Given the description of an element on the screen output the (x, y) to click on. 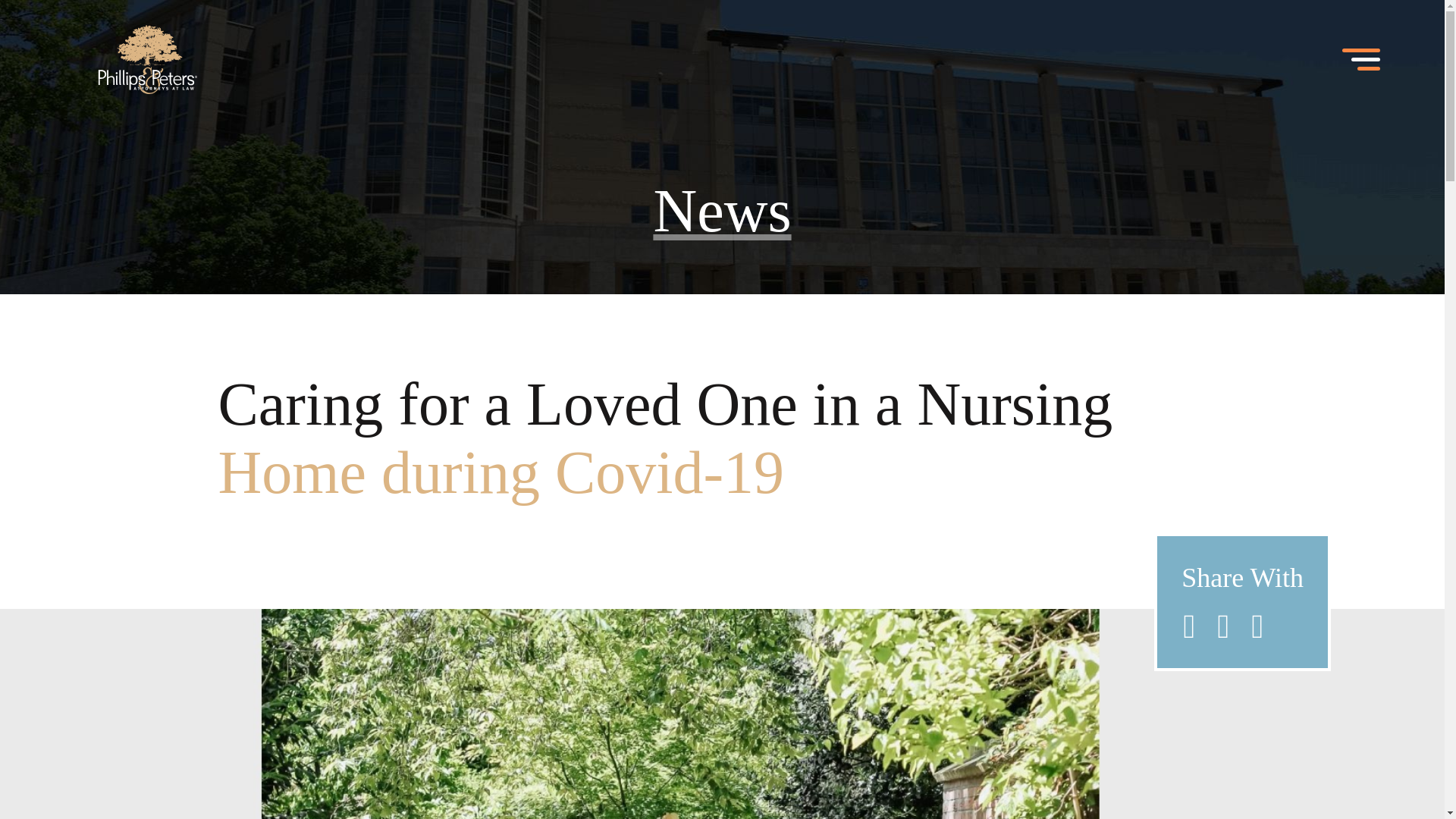
Phillips and Peters (148, 60)
